Given the description of an element on the screen output the (x, y) to click on. 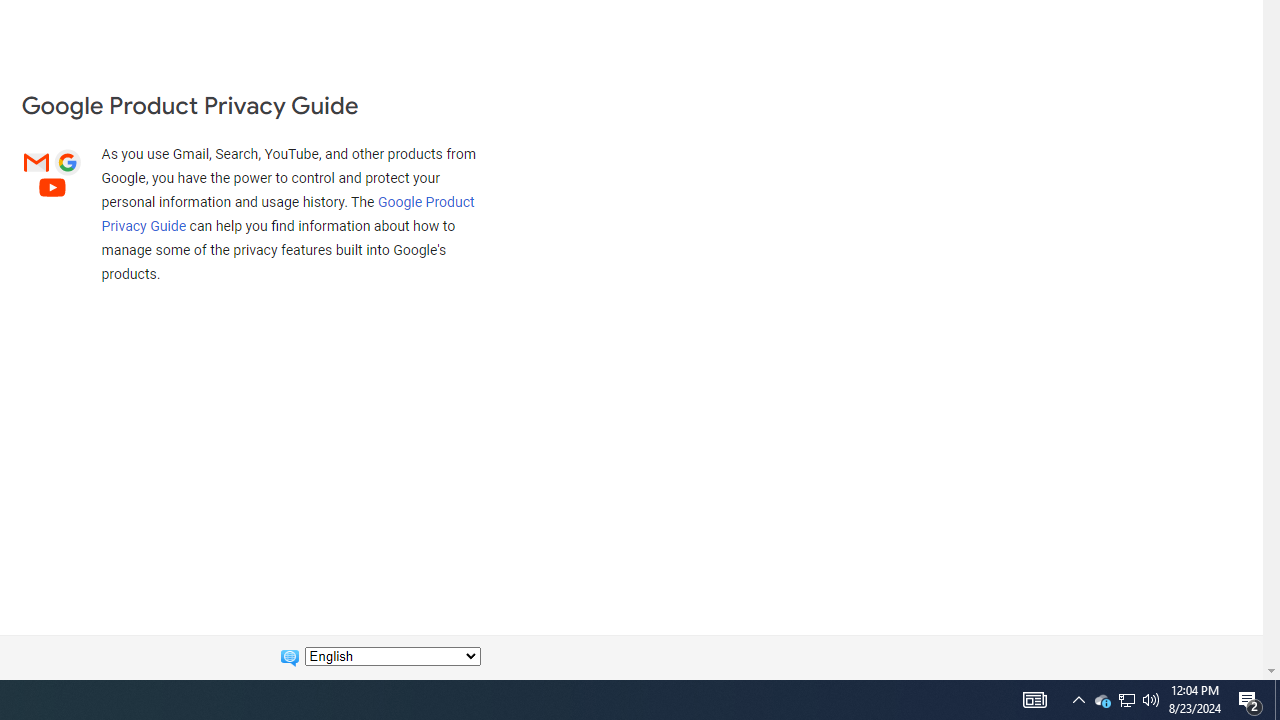
Google Product Privacy Guide (287, 213)
Change language: (392, 656)
